Given the description of an element on the screen output the (x, y) to click on. 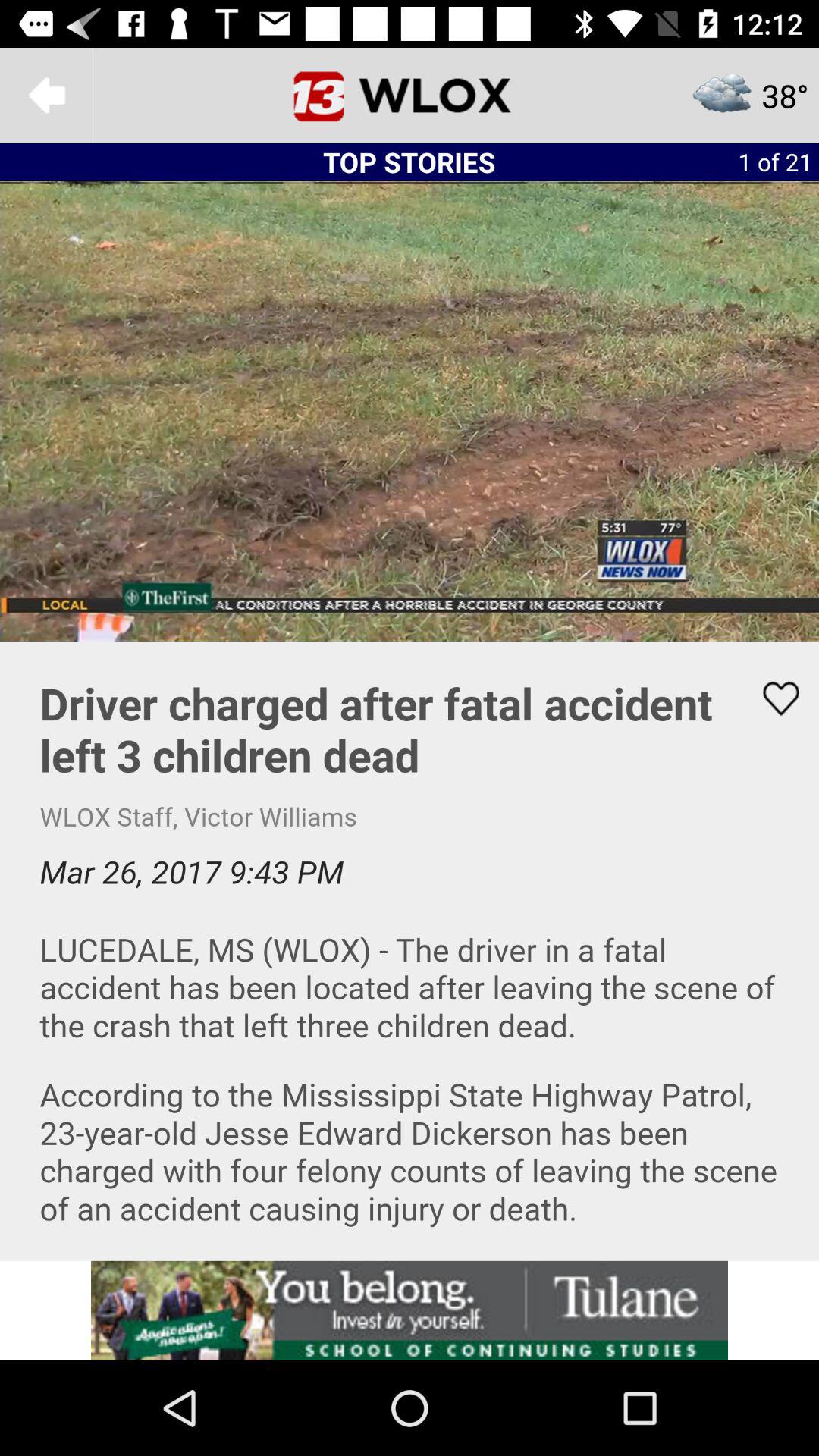
home page link (409, 95)
